Given the description of an element on the screen output the (x, y) to click on. 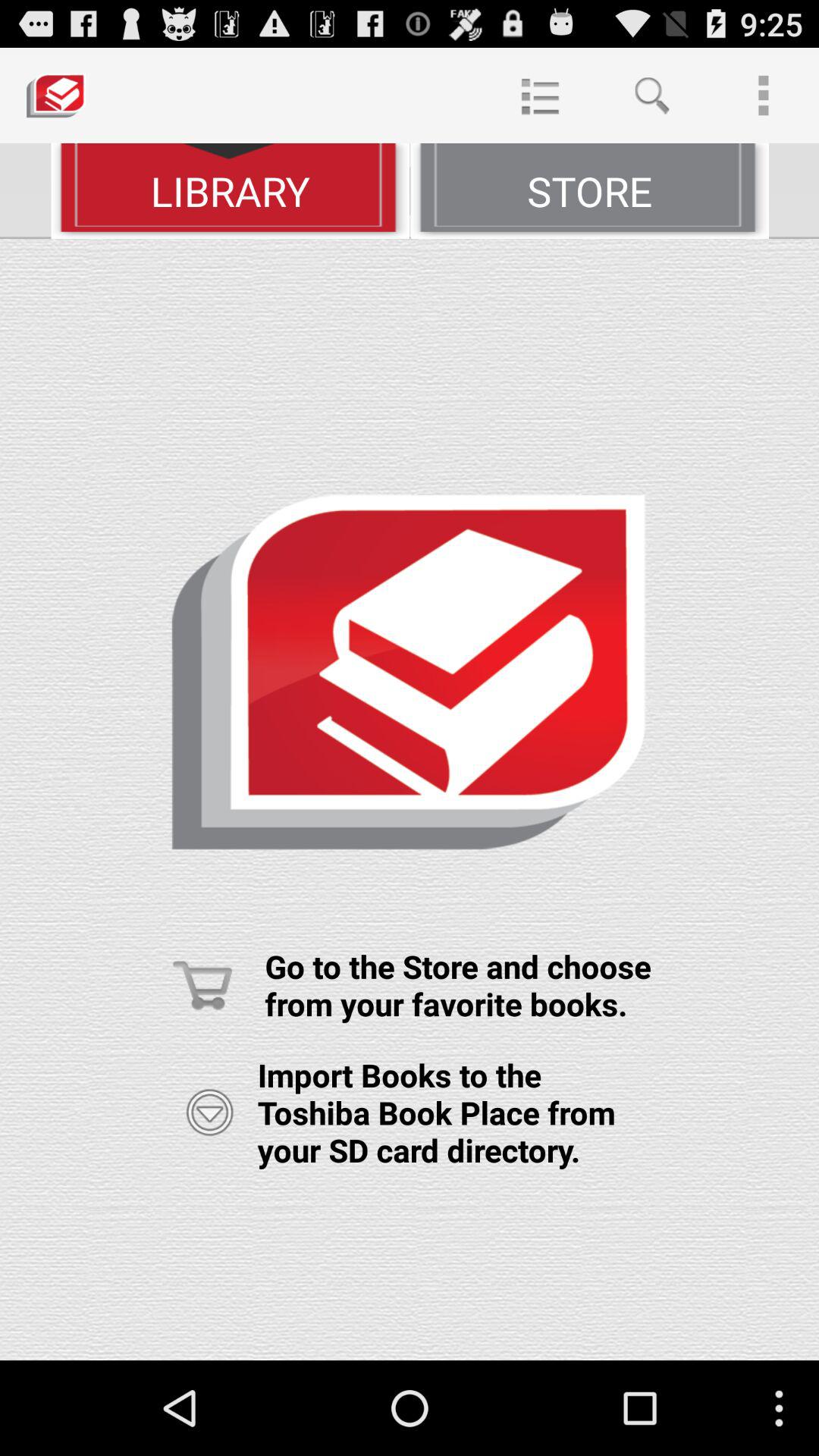
choose icon above the store (540, 95)
